Given the description of an element on the screen output the (x, y) to click on. 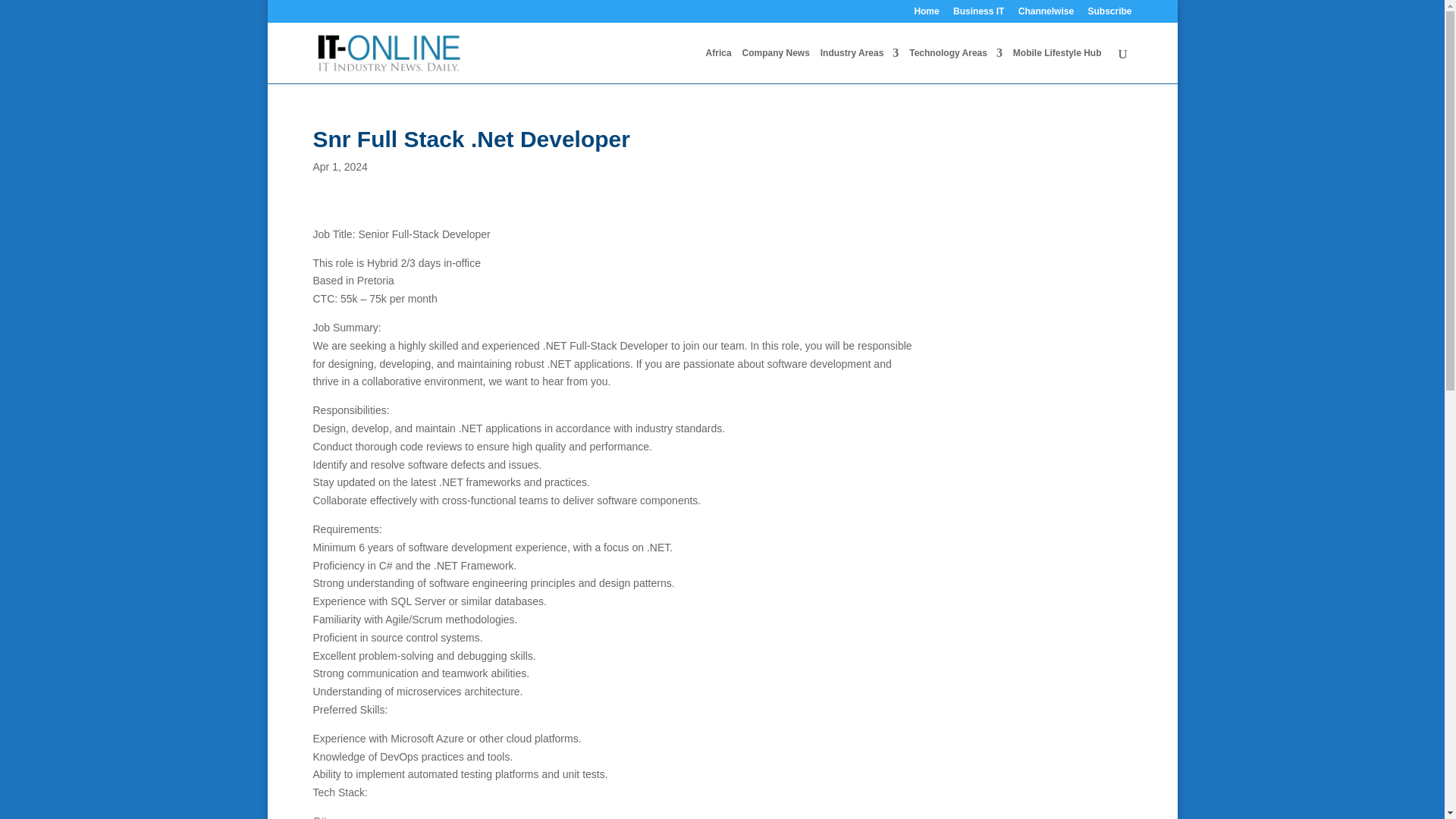
Home (926, 14)
Technology Areas (955, 65)
Industry Areas (860, 65)
Channelwise (1045, 14)
Subscribe (1109, 14)
Company News (775, 65)
Business IT (978, 14)
